Given the description of an element on the screen output the (x, y) to click on. 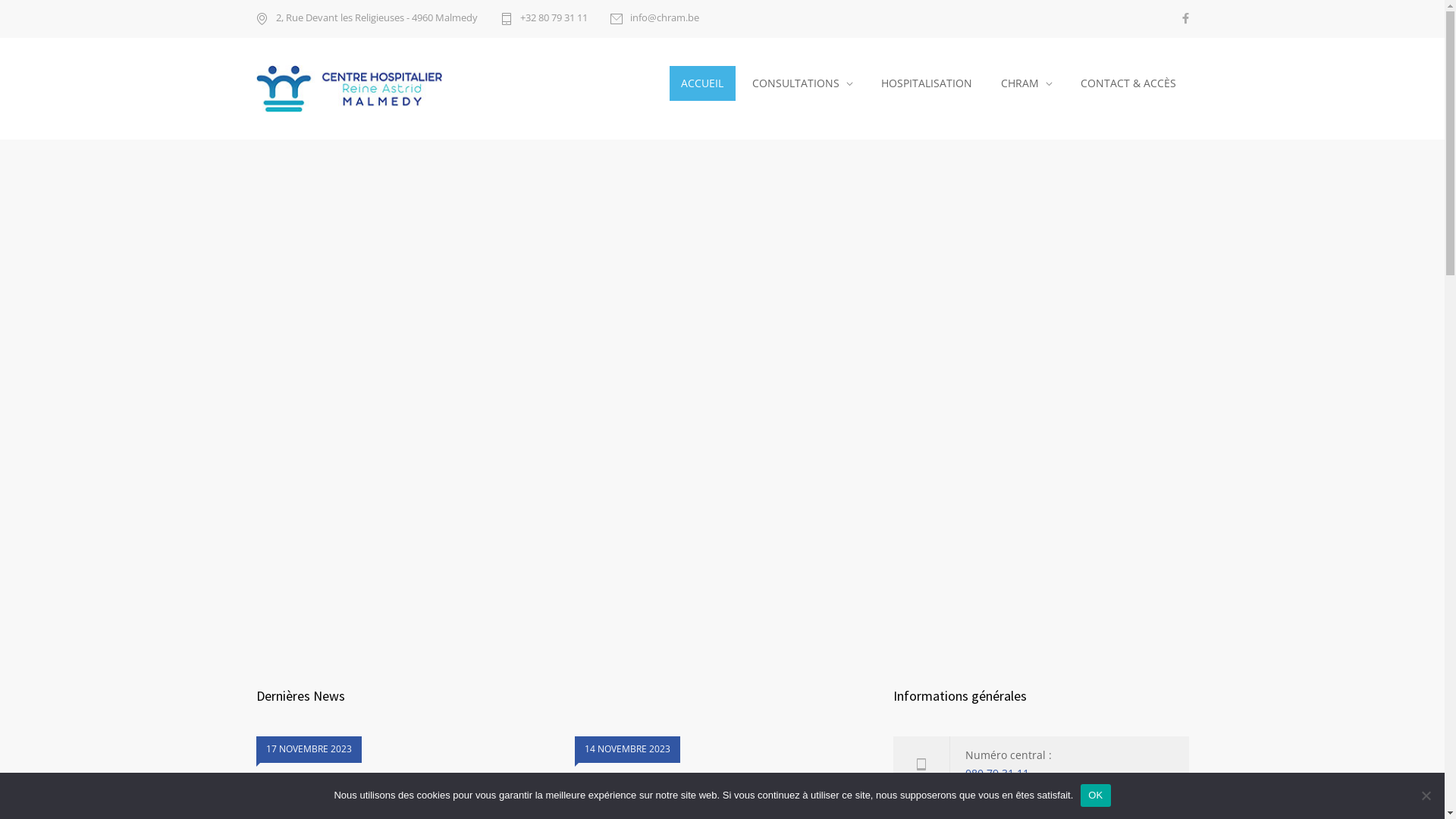
info@chram.be Element type: text (653, 18)
ACCUEIL Element type: text (702, 83)
OK Element type: text (1095, 795)
Non Element type: hover (1425, 795)
CHRAM Element type: text (1026, 83)
+32 80 79 31 11 Element type: text (543, 18)
080 79 31 11 Element type: text (996, 772)
CONSULTATIONS Element type: text (802, 83)
HOSPITALISATION Element type: text (927, 83)
